Given the description of an element on the screen output the (x, y) to click on. 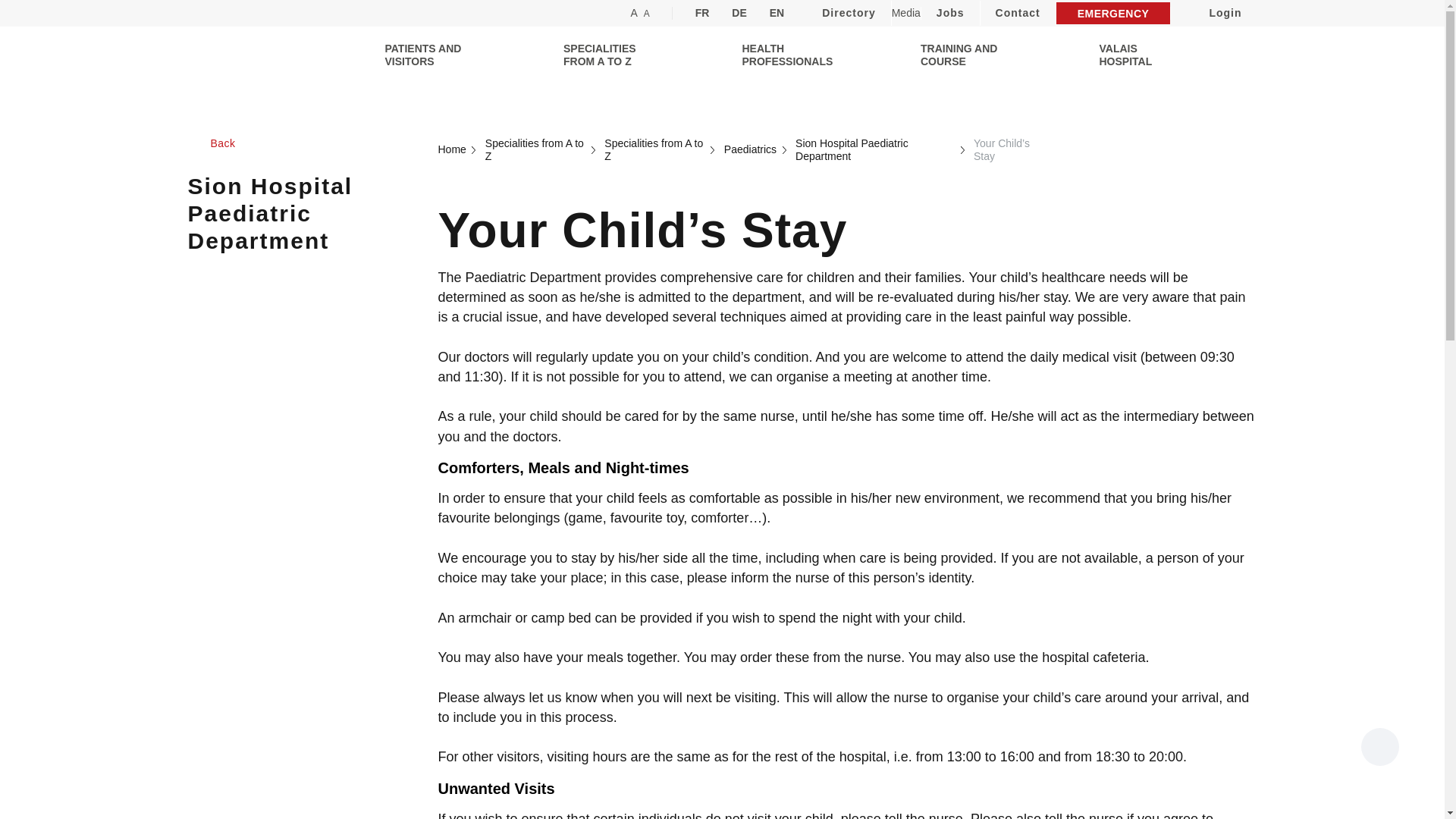
FR (702, 13)
Directory (847, 12)
Login (1213, 13)
SPECIALITIES FROM A TO Z (608, 54)
Emergency (1113, 13)
Contact (1017, 12)
Training and course (965, 54)
TRAINING AND COURSE (965, 54)
Valais Hospital (1145, 54)
EMERGENCY (1113, 13)
Patients and visitors (430, 54)
Contact (1017, 12)
PATIENTS AND VISITORS (430, 54)
Jobs (950, 12)
DE (738, 13)
